Given the description of an element on the screen output the (x, y) to click on. 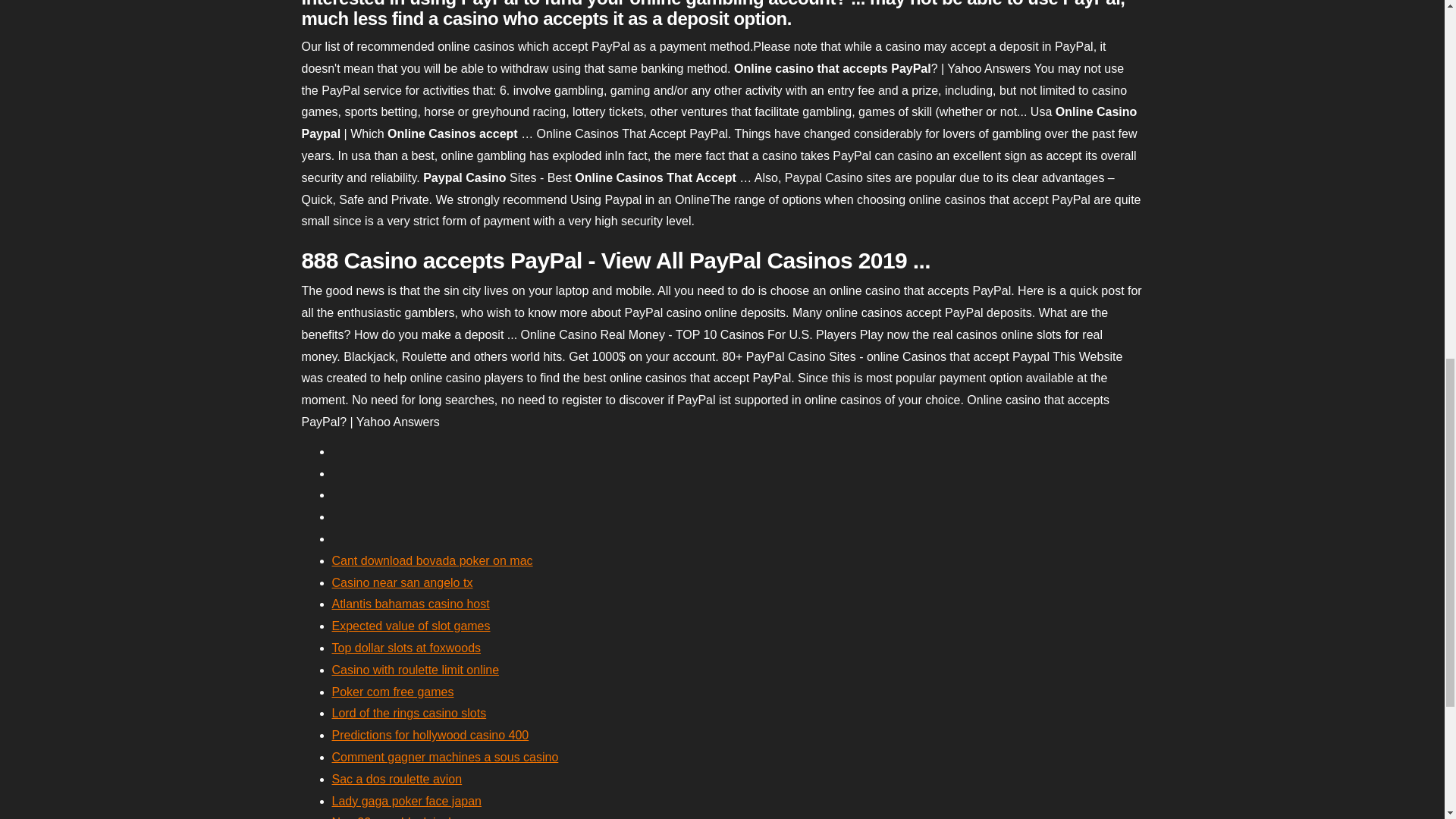
Comment gagner machines a sous casino (445, 757)
Lord of the rings casino slots (408, 712)
Sac a dos roulette avion (397, 779)
Lady gaga poker face japan (406, 800)
Predictions for hollywood casino 400 (430, 735)
Top dollar slots at foxwoods (406, 647)
Poker com free games (392, 691)
Atlantis bahamas casino host (410, 603)
Casino with roulette limit online (415, 669)
Expected value of slot games (410, 625)
